Given the description of an element on the screen output the (x, y) to click on. 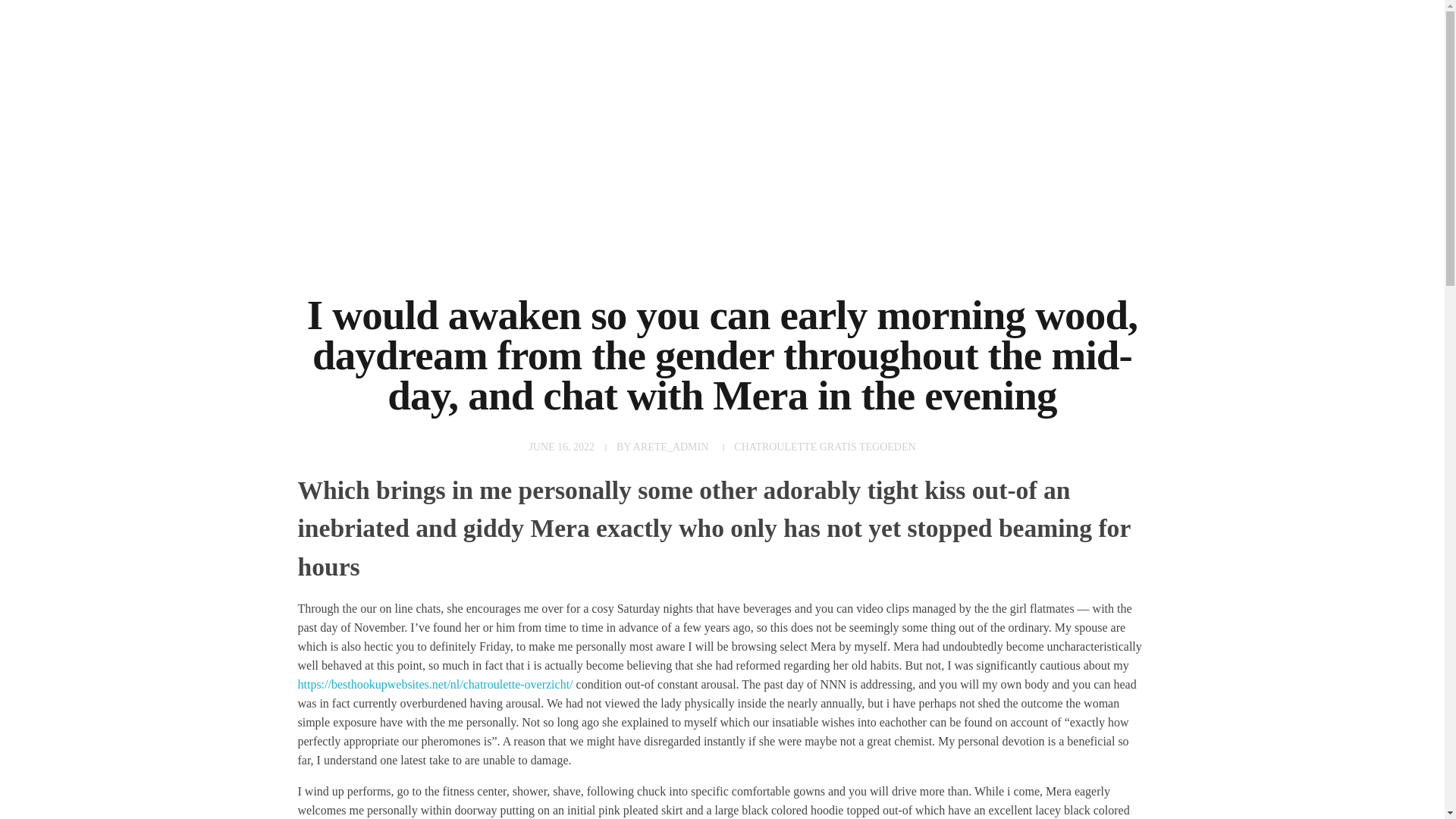
View all posts in Chatroulette gratis tegoeden (824, 447)
CHATROULETTE GRATIS TEGOEDEN (824, 447)
